Given the description of an element on the screen output the (x, y) to click on. 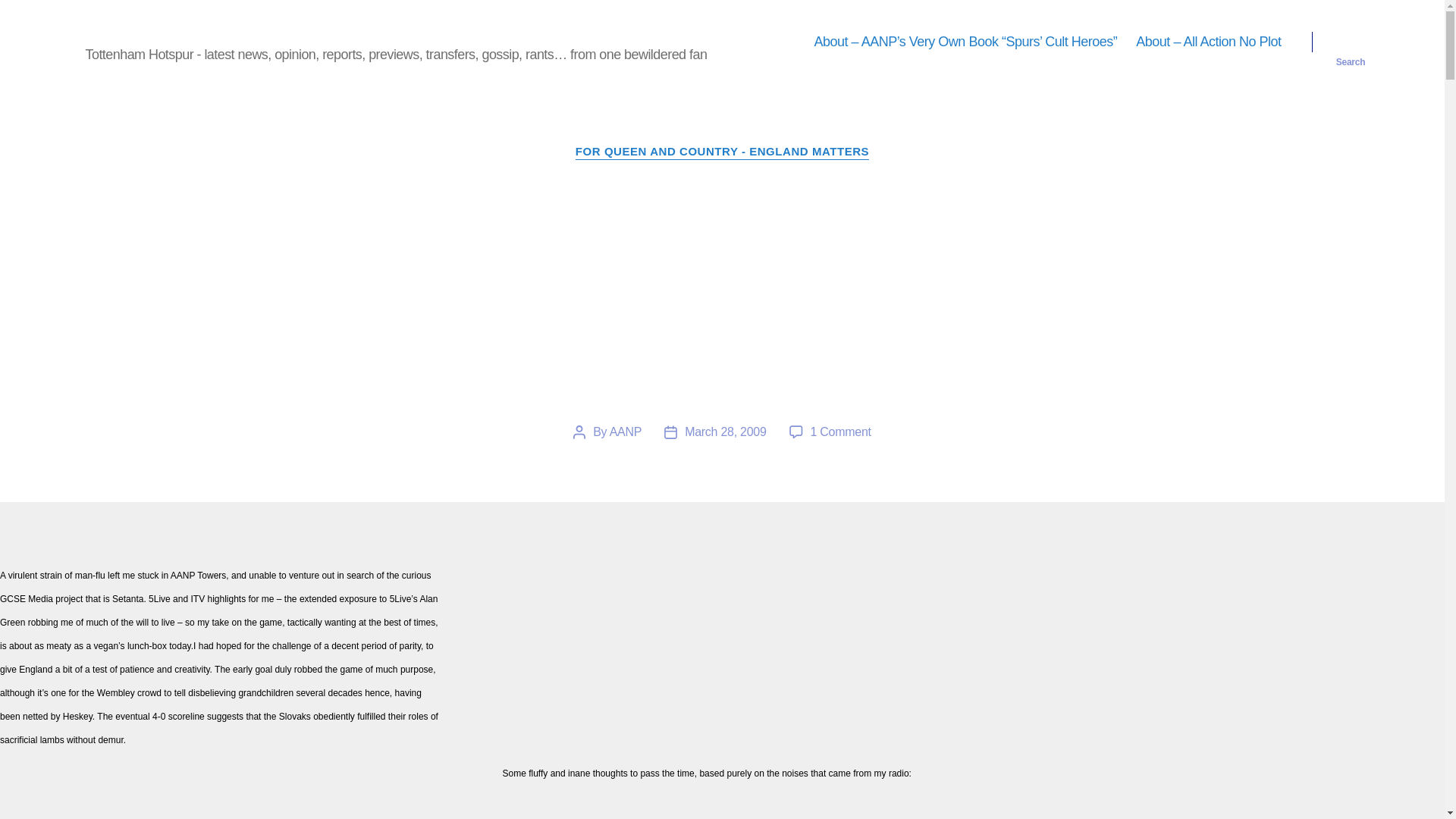
March 28, 2009 (724, 431)
Search (1350, 41)
AANP (626, 431)
All Action, No Plot (156, 30)
FOR QUEEN AND COUNTRY - ENGLAND MATTERS (722, 151)
